Given the description of an element on the screen output the (x, y) to click on. 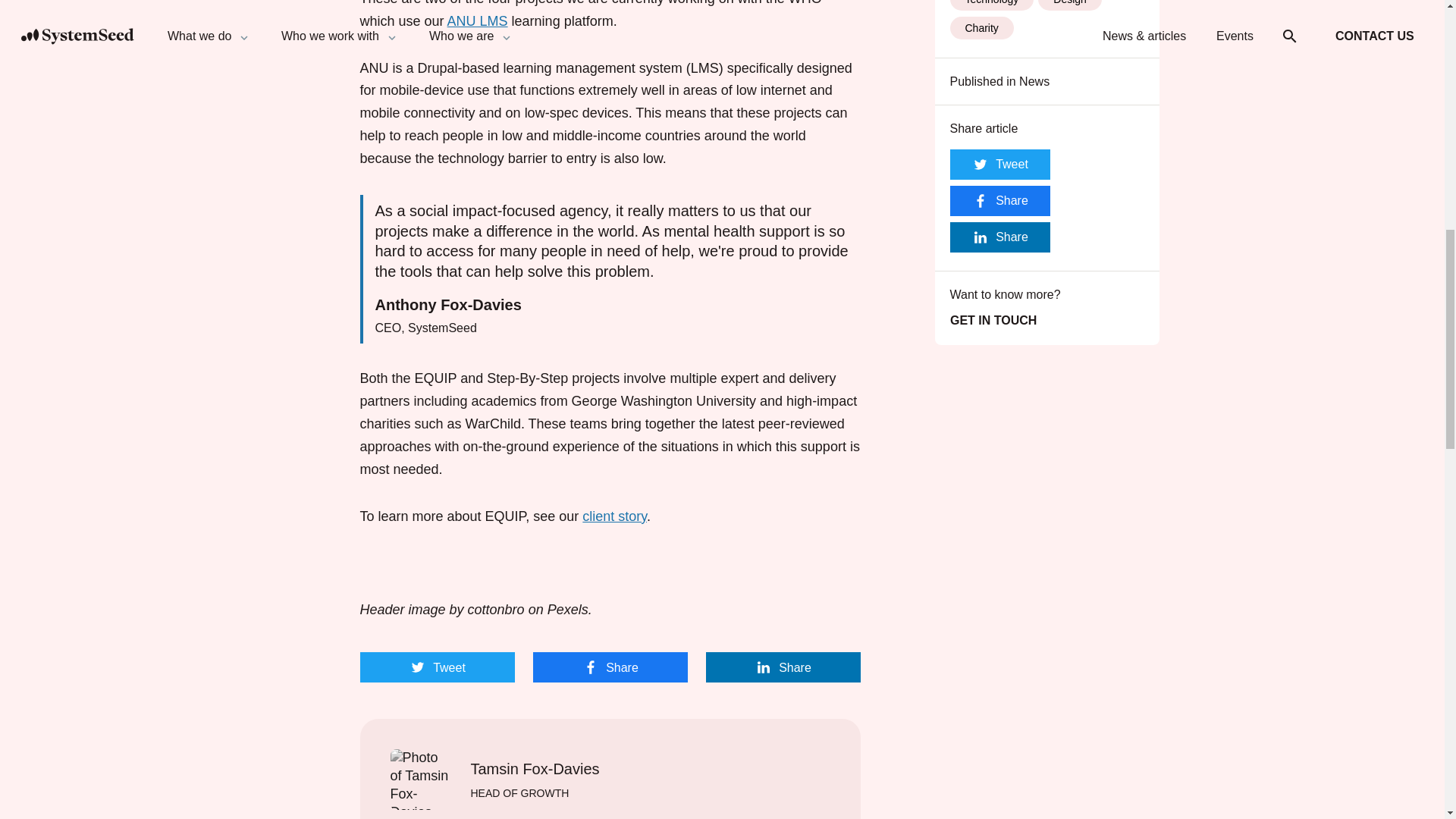
Photo of Tamsin Fox-Davies (419, 779)
